Given the description of an element on the screen output the (x, y) to click on. 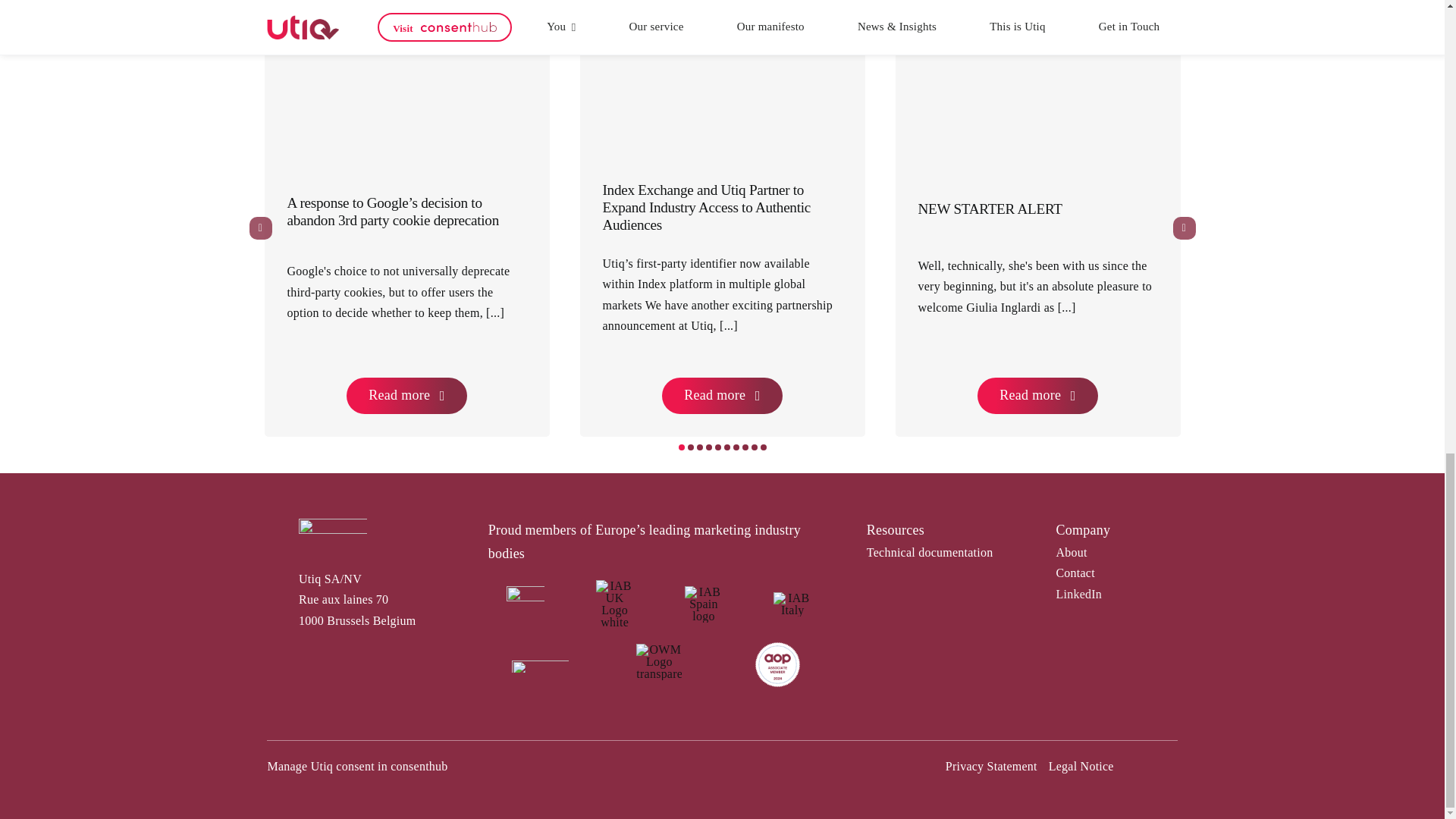
Read more (721, 395)
IAB Member Logo3 (525, 604)
aop-badges-2024-Associate-WO (777, 664)
OWM Logo trans White (658, 661)
Read more (405, 395)
Read more (1036, 395)
utiq (332, 529)
NEW STARTER ALERT (989, 208)
IAB-Spain-logo (703, 604)
